Given the description of an element on the screen output the (x, y) to click on. 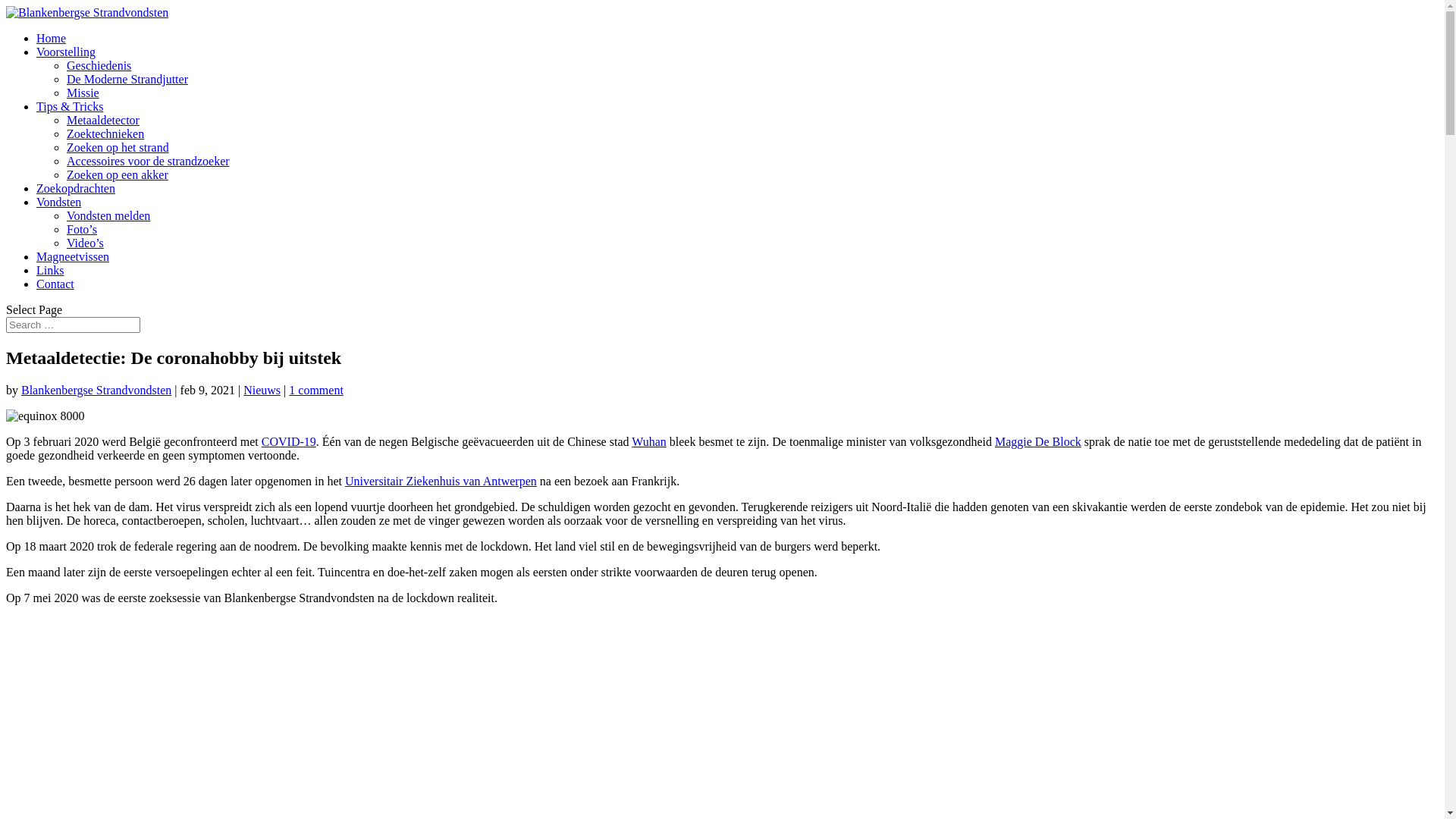
Maggie De Block Element type: text (1037, 441)
1 comment Element type: text (315, 389)
Zoeken op een akker Element type: text (117, 174)
Voorstelling Element type: text (65, 51)
Zoeken op het strand Element type: text (117, 147)
Magneetvissen Element type: text (72, 256)
Nieuws Element type: text (261, 389)
Metaaldetector Element type: text (102, 119)
Accessoires voor de strandzoeker Element type: text (147, 160)
COVID-19 Element type: text (288, 441)
Vondsten Element type: text (58, 201)
Wuhan Element type: text (648, 441)
Search for: Element type: hover (73, 324)
Vondsten melden Element type: text (108, 215)
Tips & Tricks Element type: text (69, 106)
Contact Element type: text (55, 283)
De Moderne Strandjutter Element type: text (127, 78)
Blankenbergse Strandvondsten Element type: text (96, 389)
Home Element type: text (50, 37)
Zoekopdrachten Element type: text (75, 188)
Links Element type: text (49, 269)
Geschiedenis Element type: text (98, 65)
Universitair Ziekenhuis van Antwerpen Element type: text (440, 480)
Zoektechnieken Element type: text (105, 133)
Missie Element type: text (82, 92)
